Given the description of an element on the screen output the (x, y) to click on. 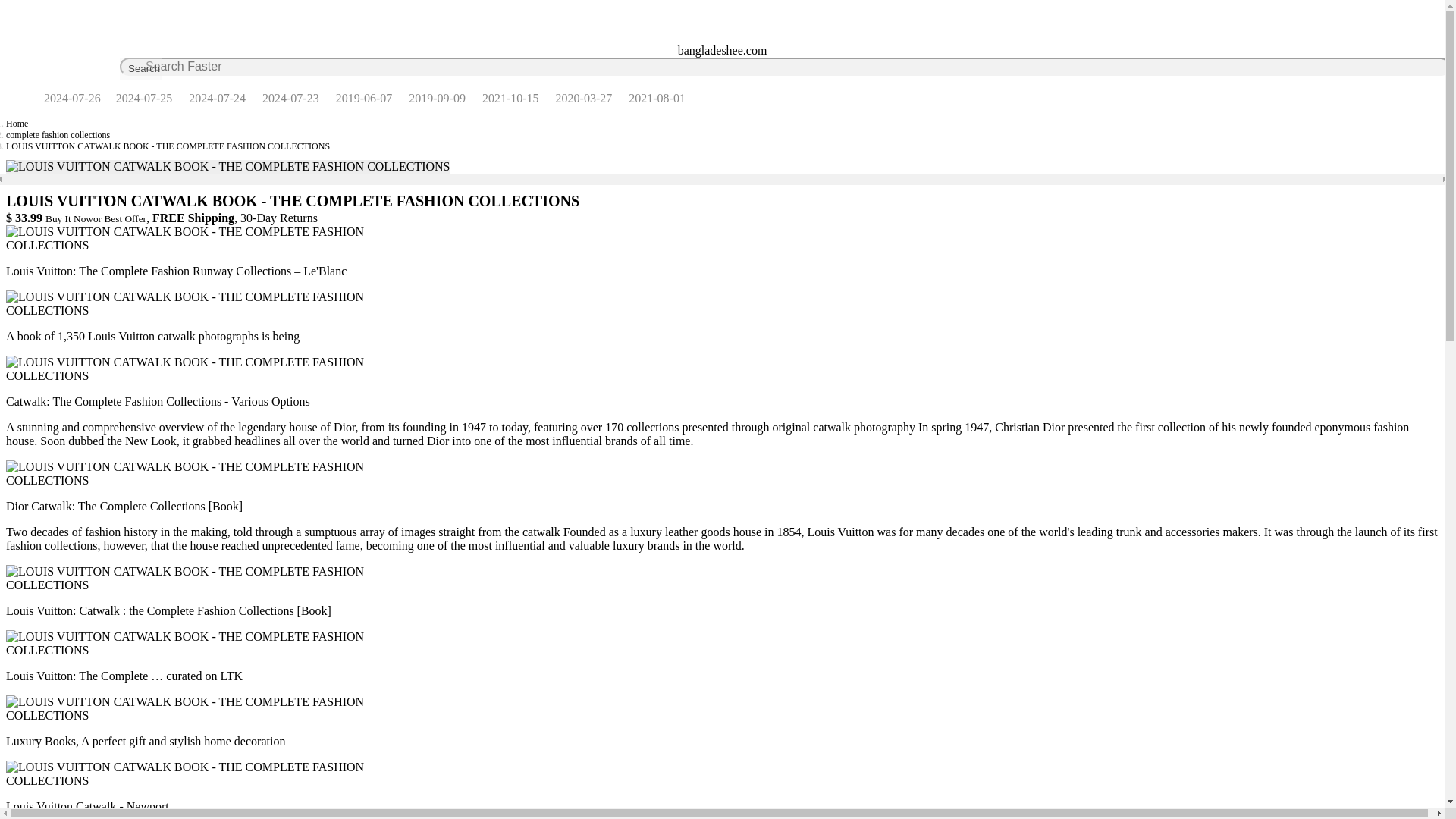
2019-09-09 (437, 97)
2020-03-27 (584, 97)
complete fashion collections (57, 134)
Search (140, 68)
2024-07-25 (143, 97)
2021-10-15 (510, 97)
2019-06-07 (364, 97)
2024-07-24 (216, 97)
2024-07-26 (71, 97)
2021-08-01 (657, 97)
Search (140, 68)
